Given the description of an element on the screen output the (x, y) to click on. 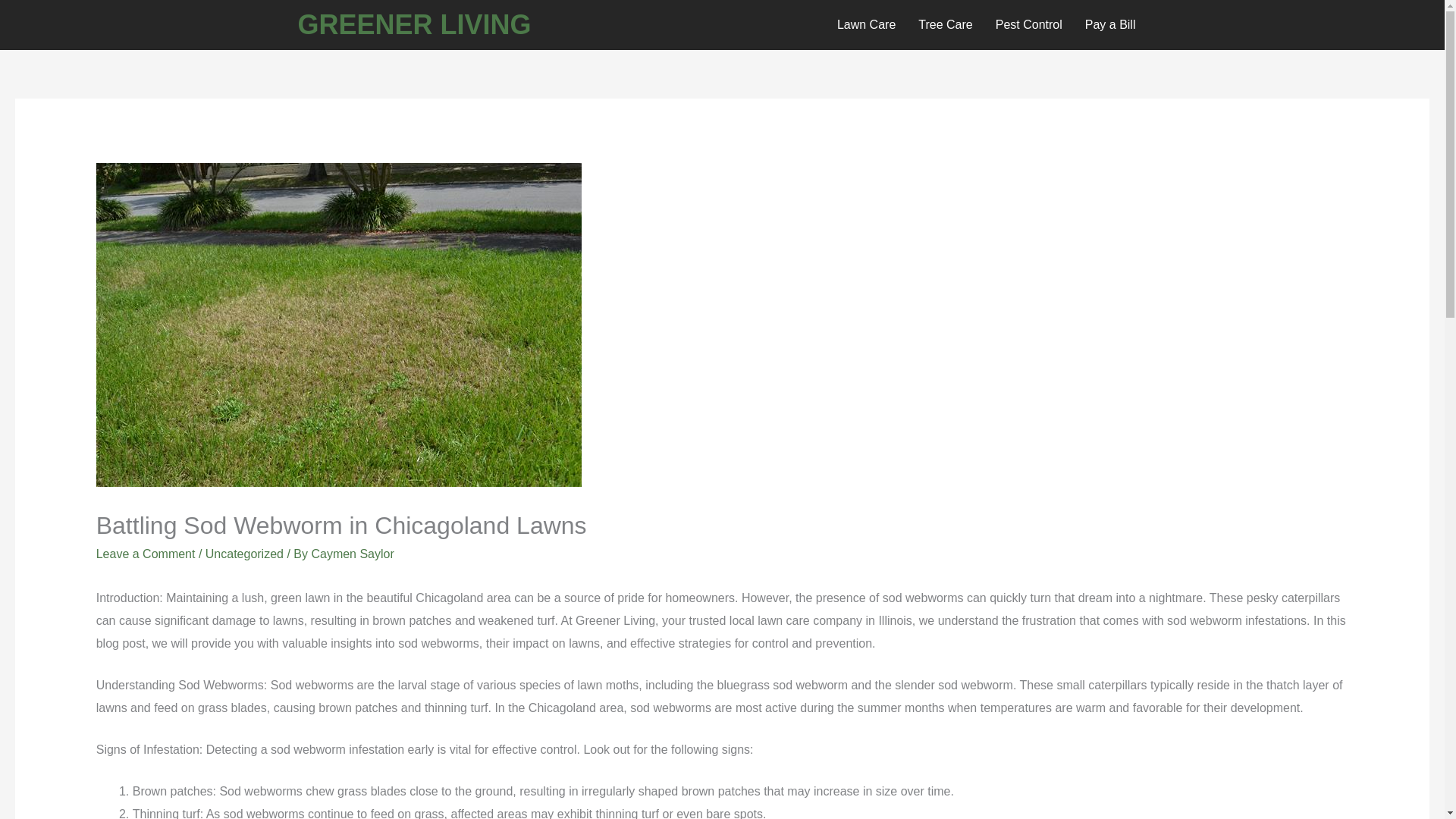
Uncategorized (244, 553)
Pest Control (1029, 24)
GREENER LIVING (414, 24)
Tree Care (945, 24)
View all posts by Caymen Saylor (352, 553)
Lawn Care (866, 24)
Caymen Saylor (352, 553)
Leave a Comment (145, 553)
Pay a Bill (1110, 24)
